Given the description of an element on the screen output the (x, y) to click on. 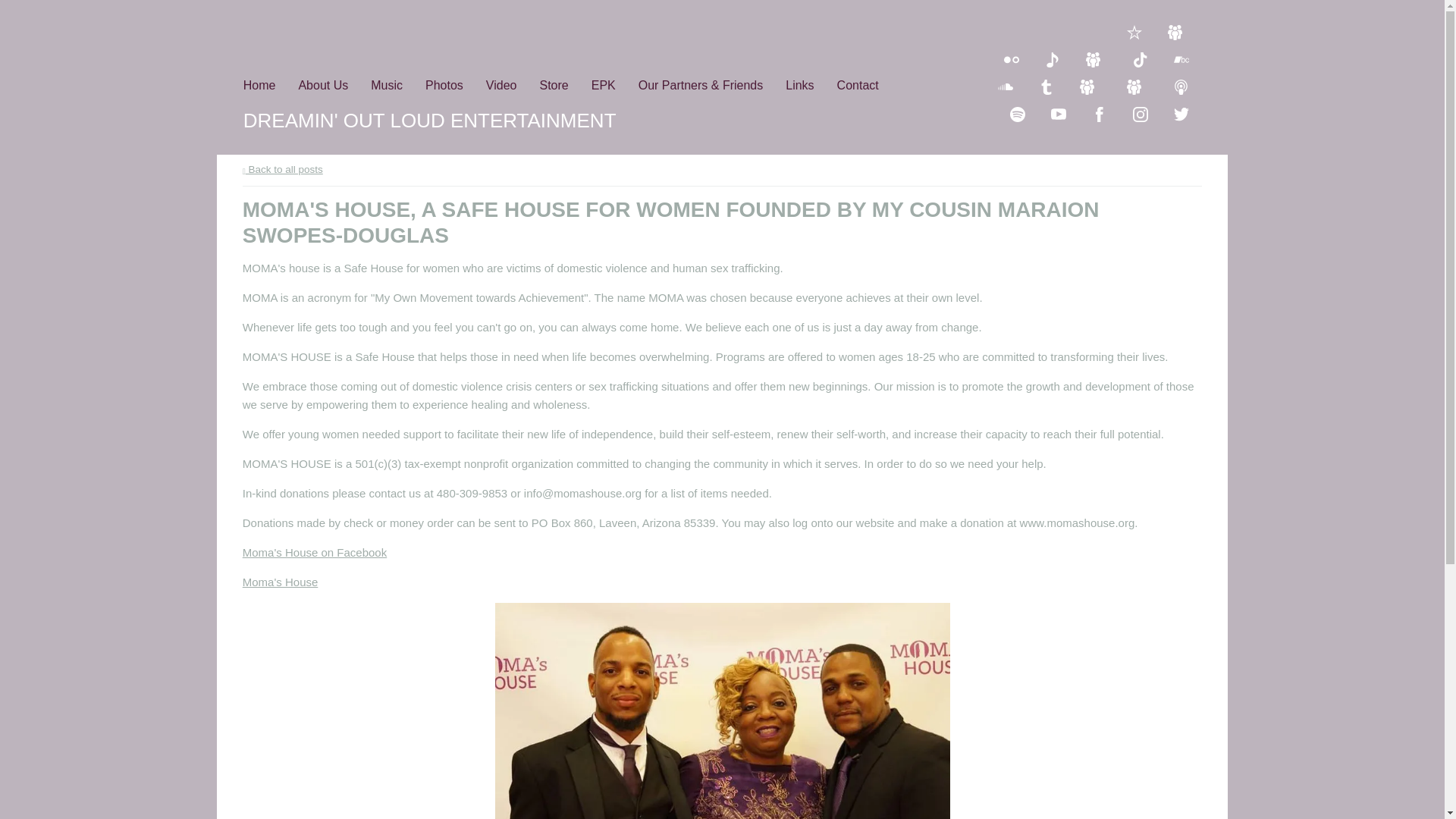
About Us (322, 89)
Store (552, 89)
Music (387, 89)
DREAMIN' OUT LOUD ENTERTAINMENT (429, 120)
Home (259, 89)
Video (501, 89)
Photos (444, 89)
